Given the description of an element on the screen output the (x, y) to click on. 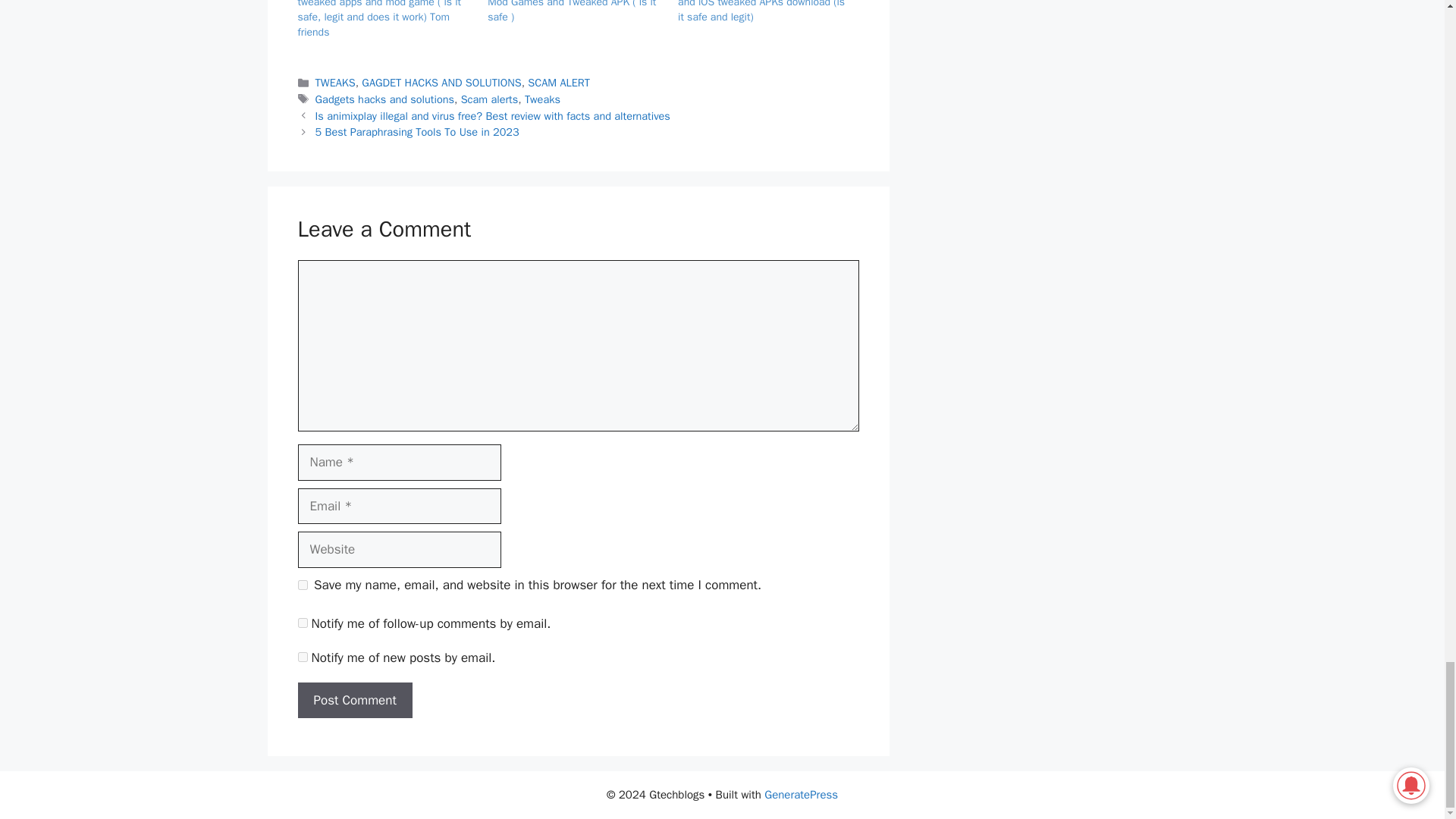
Post Comment (354, 700)
subscribe (302, 656)
yes (302, 584)
subscribe (302, 623)
